Given the description of an element on the screen output the (x, y) to click on. 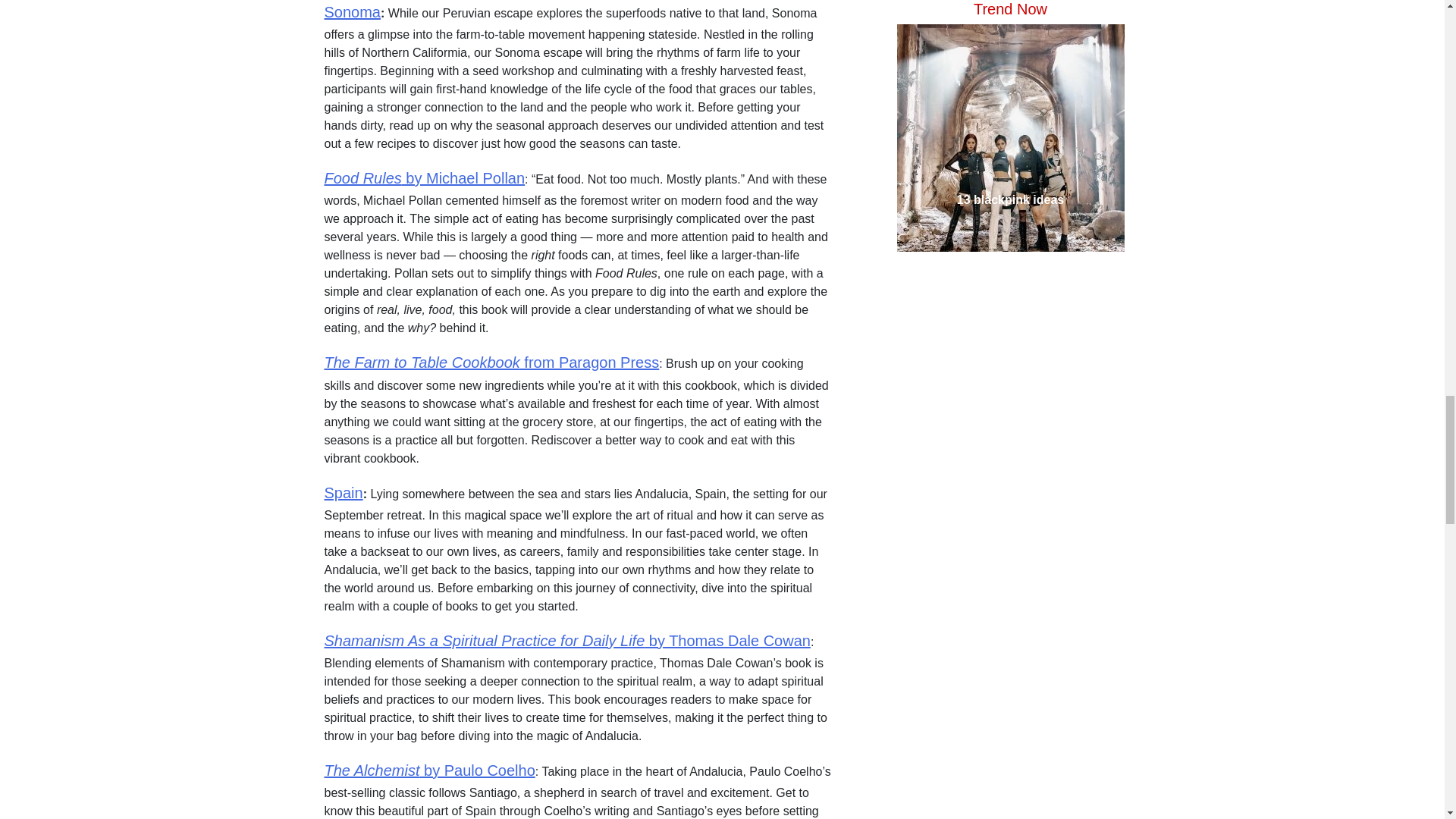
Food Rules by Michael Pollan (424, 177)
The Alchemist by Paulo Coelho (429, 770)
Sonoma (352, 12)
Spain (343, 492)
The Farm to Table Cookbook from Paragon Press (491, 362)
